Given the description of an element on the screen output the (x, y) to click on. 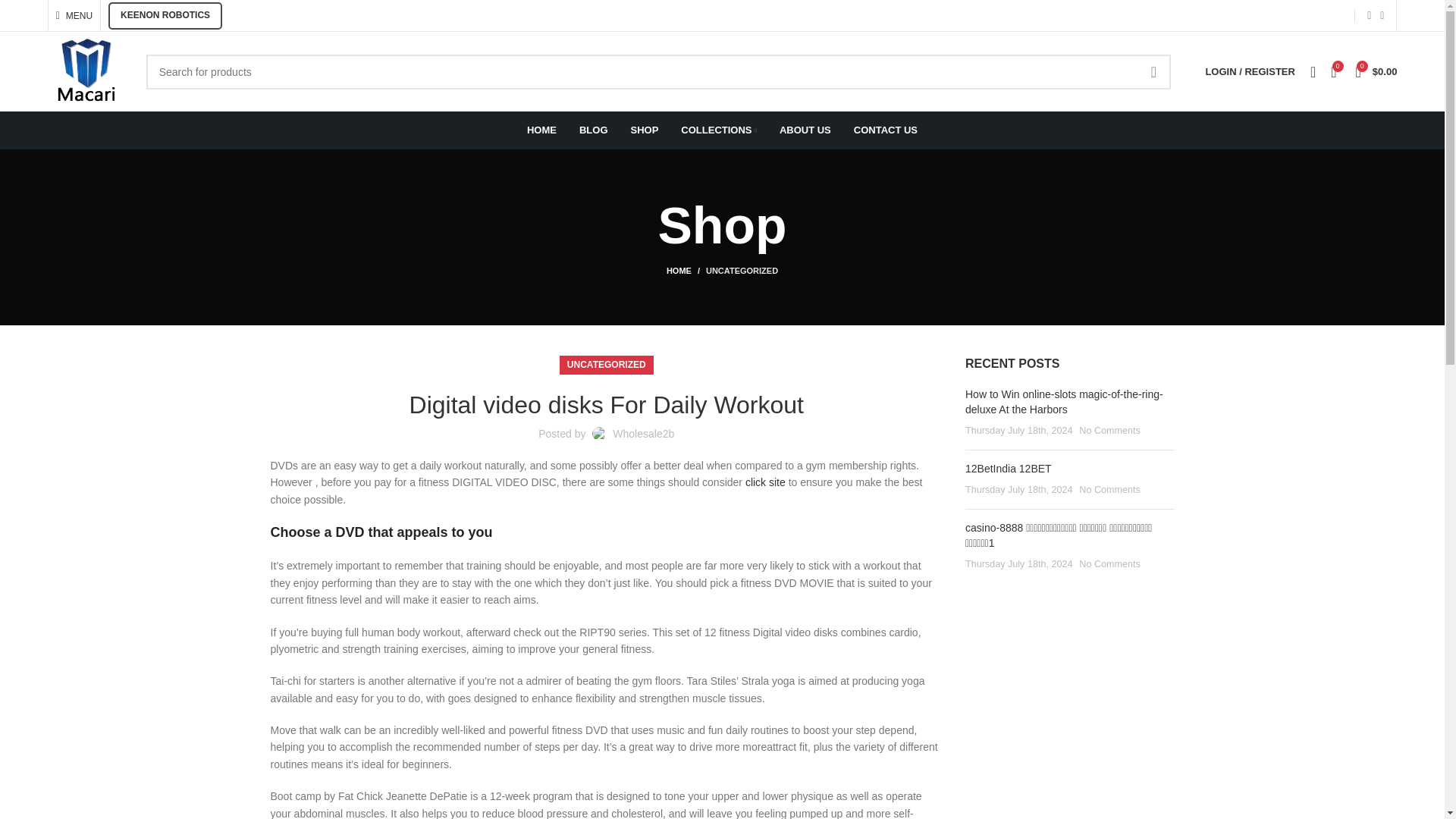
My account (1248, 71)
MENU (74, 15)
Shopping cart (1376, 71)
SEARCH (1152, 71)
Search for products (659, 71)
HOME (541, 130)
Compare products (1333, 71)
Permalink to 12BetIndia 12BET (1008, 468)
My Wishlist (1313, 71)
0 (1333, 71)
COLLECTIONS (719, 130)
SHOP (644, 130)
KEENON ROBOTICS (164, 14)
